Given the description of an element on the screen output the (x, y) to click on. 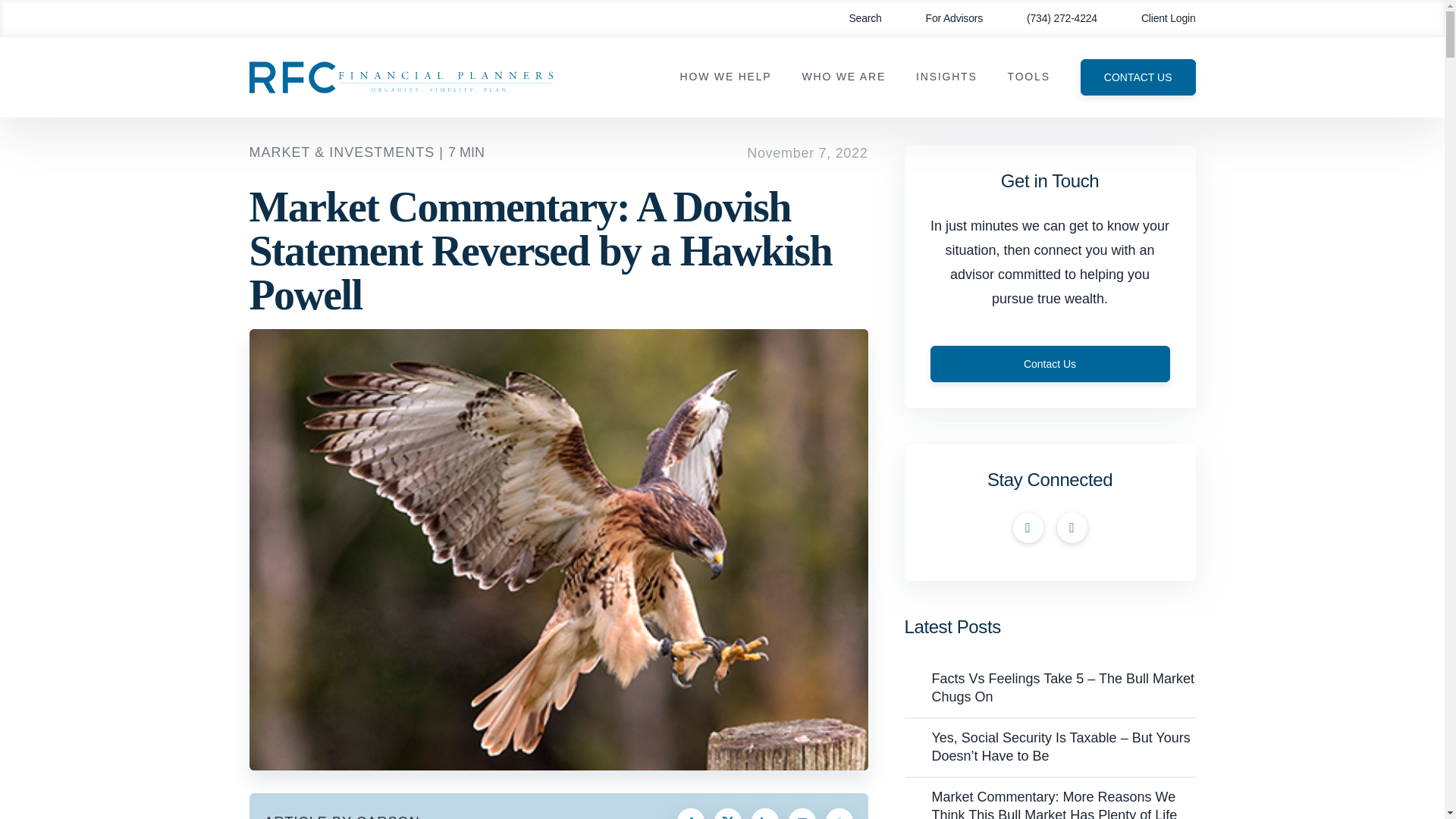
For Advisors (943, 18)
Search (853, 18)
INSIGHTS (945, 77)
HOW WE HELP (725, 77)
WHO WE ARE (843, 77)
Client Login (1157, 18)
TOOLS (1028, 77)
